Given the description of an element on the screen output the (x, y) to click on. 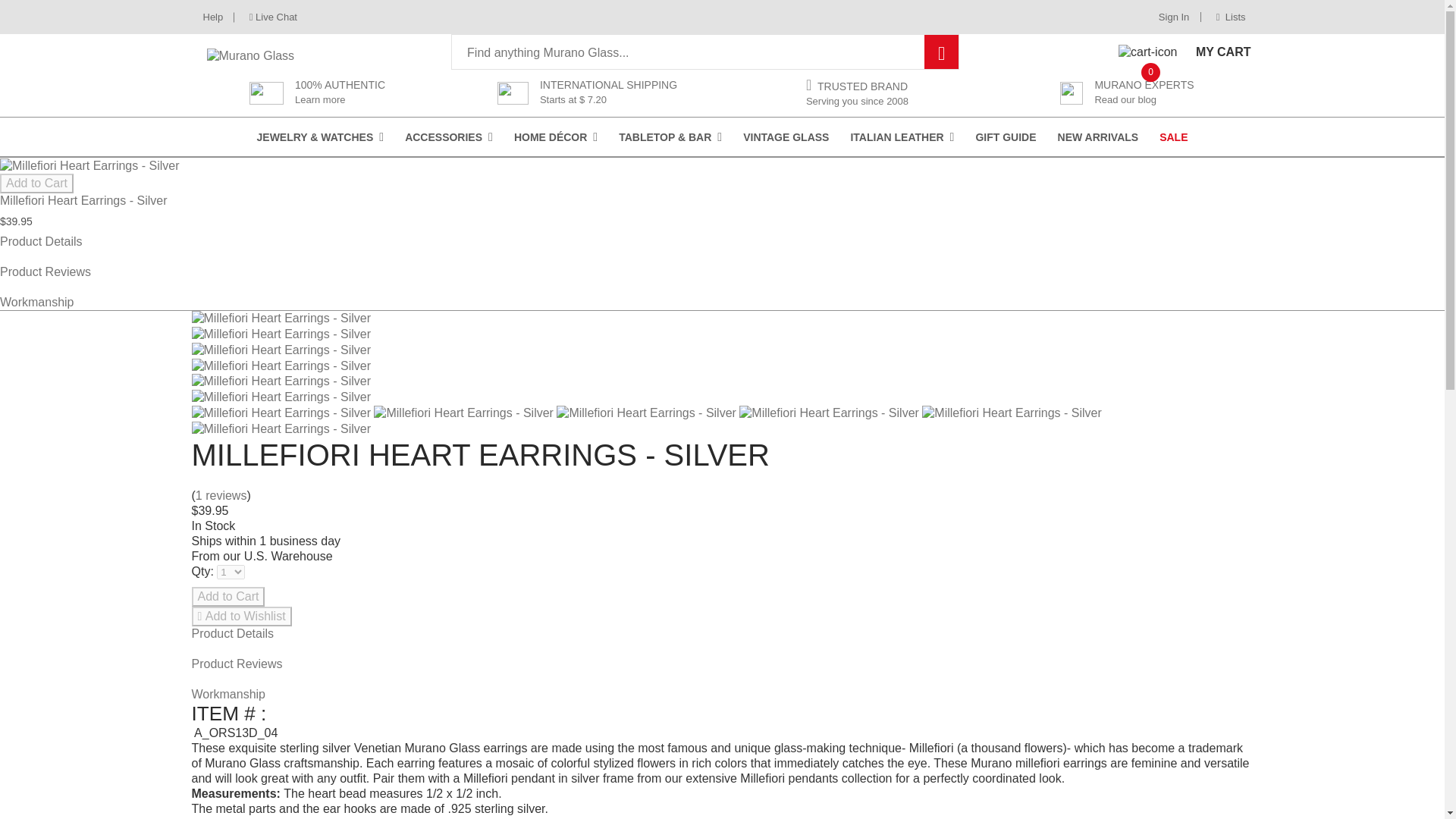
  Lists (1225, 17)
 Live Chat (1184, 51)
Murano Glass Jewelry (277, 16)
Sign In (320, 136)
Help (1174, 17)
